Given the description of an element on the screen output the (x, y) to click on. 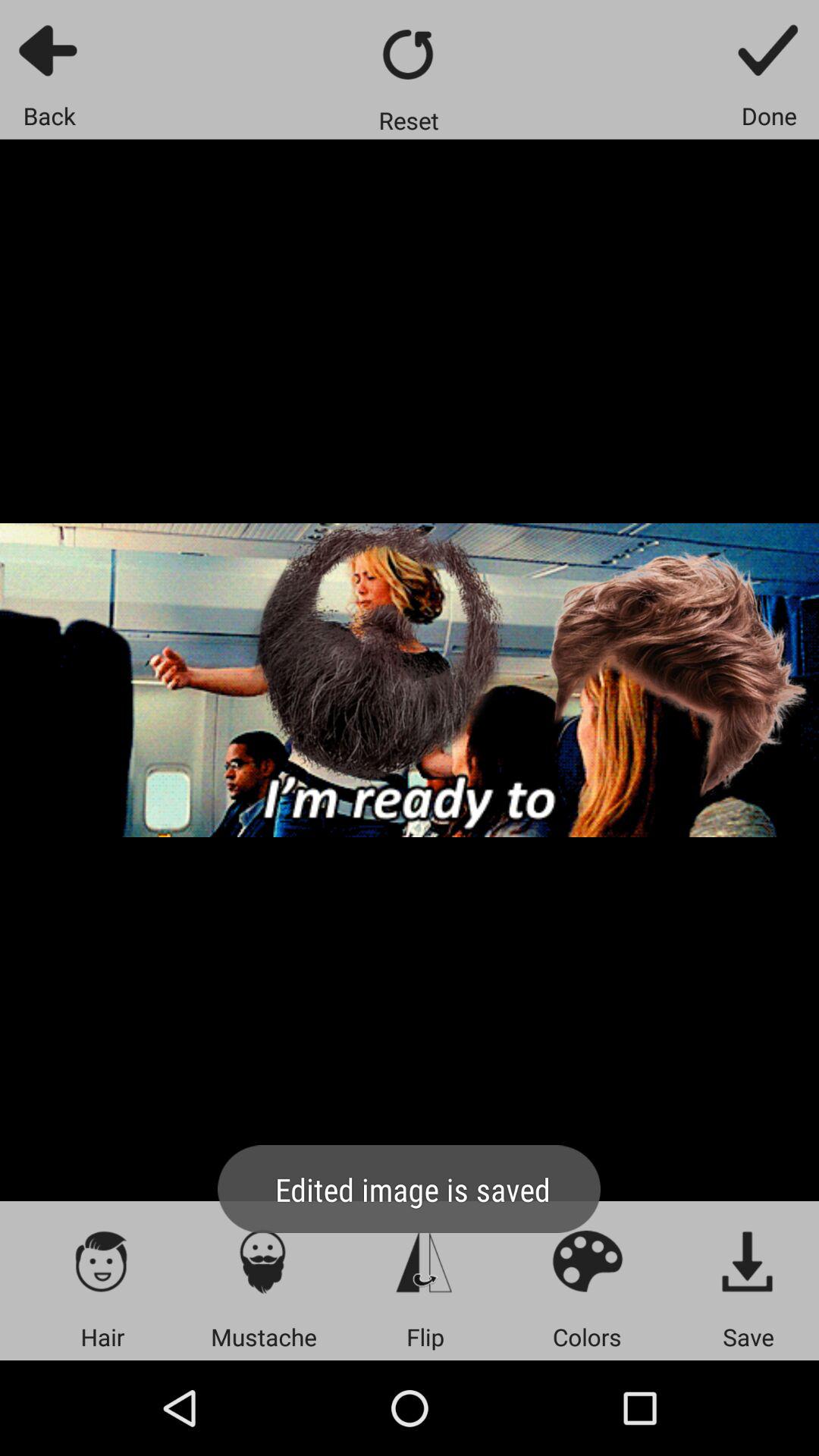
indicate finish (769, 49)
